Given the description of an element on the screen output the (x, y) to click on. 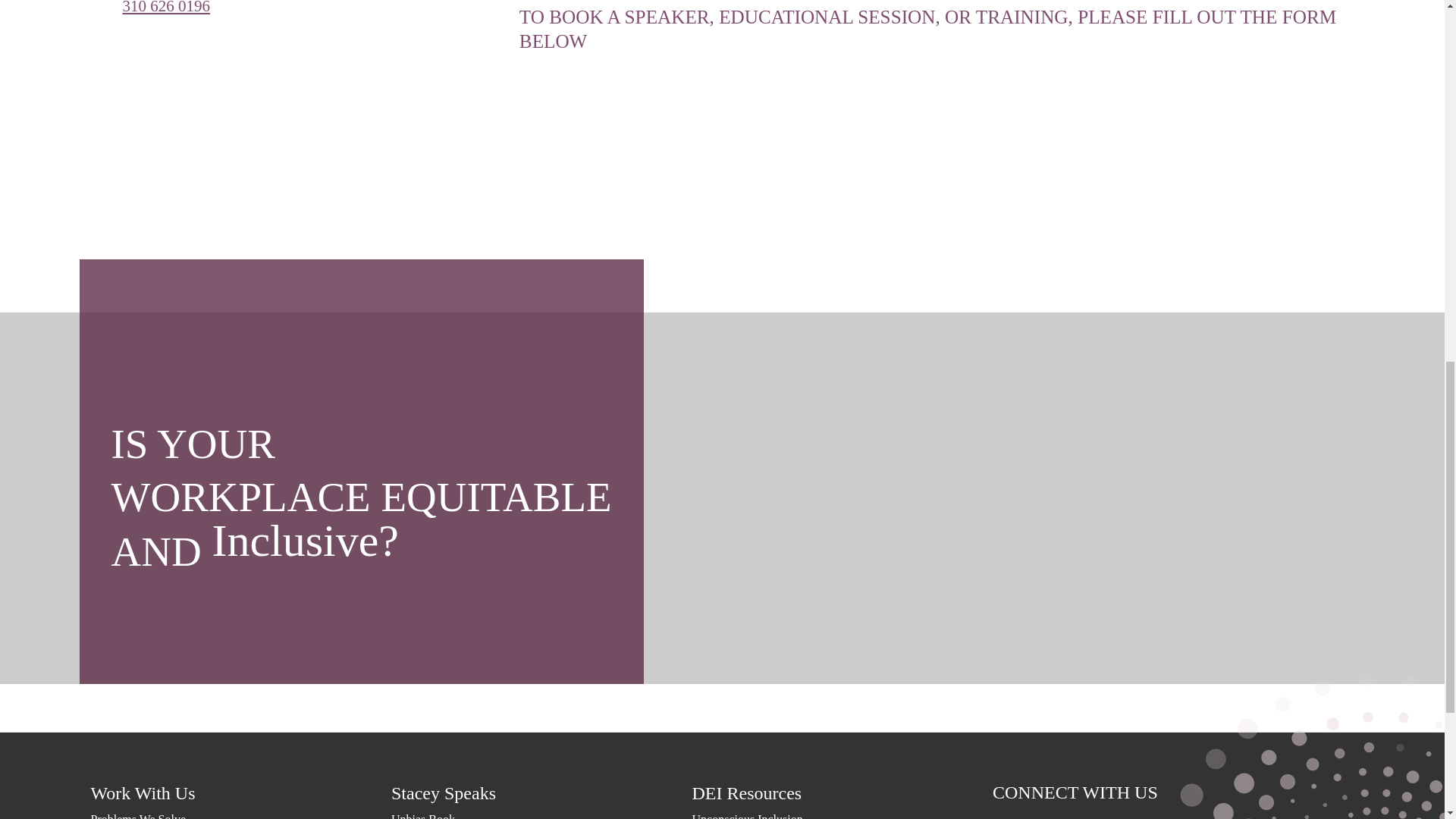
Work With Us (240, 793)
Problems We Solve (240, 814)
310 626 0196 (166, 7)
